Given the description of an element on the screen output the (x, y) to click on. 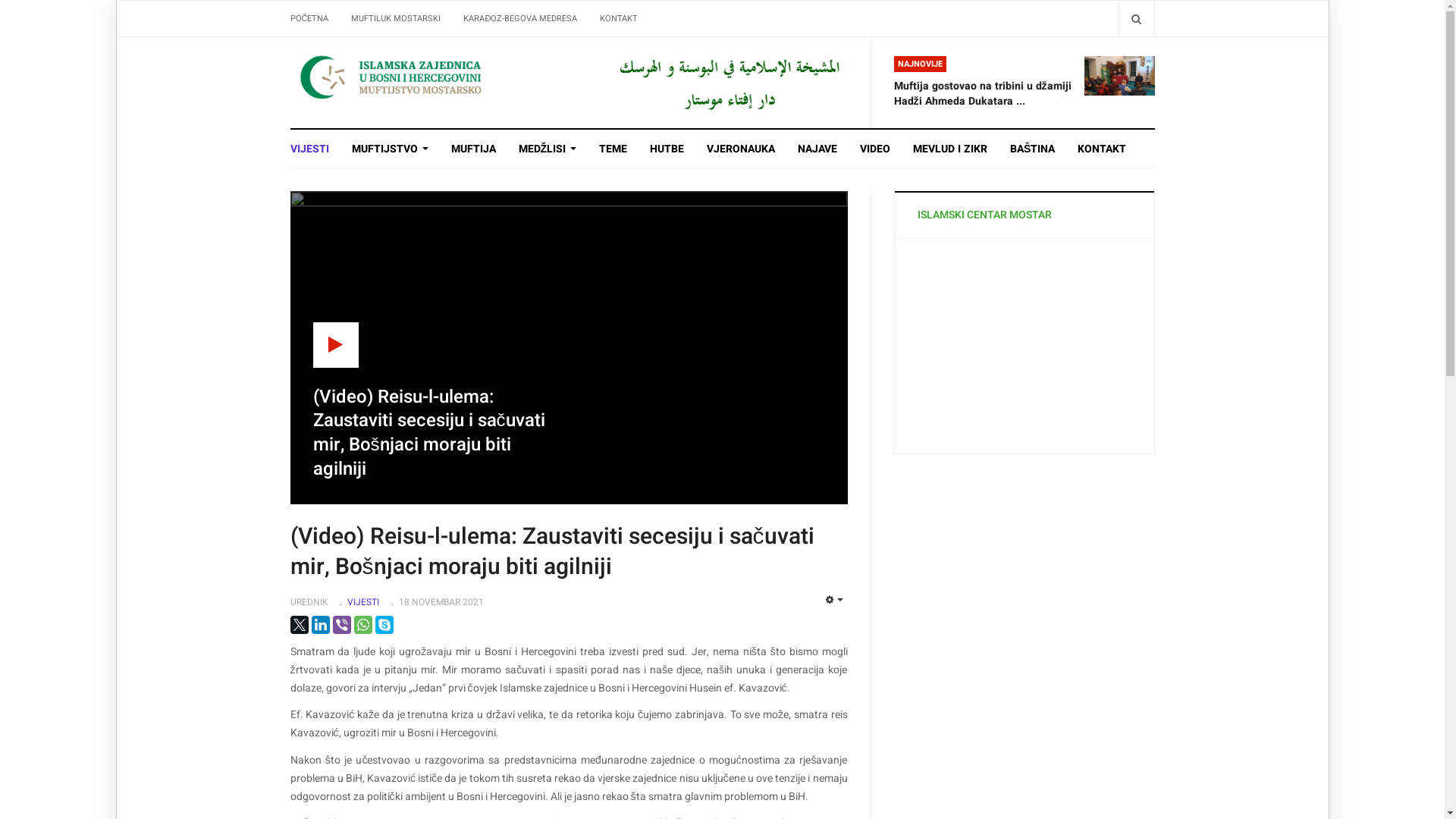
VIJESTI Element type: text (314, 148)
HUTBE Element type: text (666, 148)
MUFTILUK MOSTARSKI Element type: text (395, 18)
MUFTIJSTVO Element type: text (389, 148)
VJERONAUKA Element type: text (740, 148)
WhatsApp Element type: hover (362, 624)
Muftijstvo Mostarsko Element type: hover (425, 76)
MUFTIJA Element type: text (473, 148)
MEVLUD I ZIKR Element type: text (949, 148)
Muftijstvo mostarsko Element type: hover (728, 82)
LinkedIn Element type: hover (319, 624)
TEME Element type: text (612, 148)
VIDEO Element type: text (874, 148)
NAJAVE Element type: text (817, 148)
Skype Element type: hover (383, 624)
KONTAKT Element type: text (1096, 148)
EMPTY Element type: text (833, 599)
KONTAKT Element type: text (618, 18)
Viber Element type: hover (341, 624)
VIJESTI Element type: text (363, 601)
Twitter Element type: hover (298, 624)
